Given the description of an element on the screen output the (x, y) to click on. 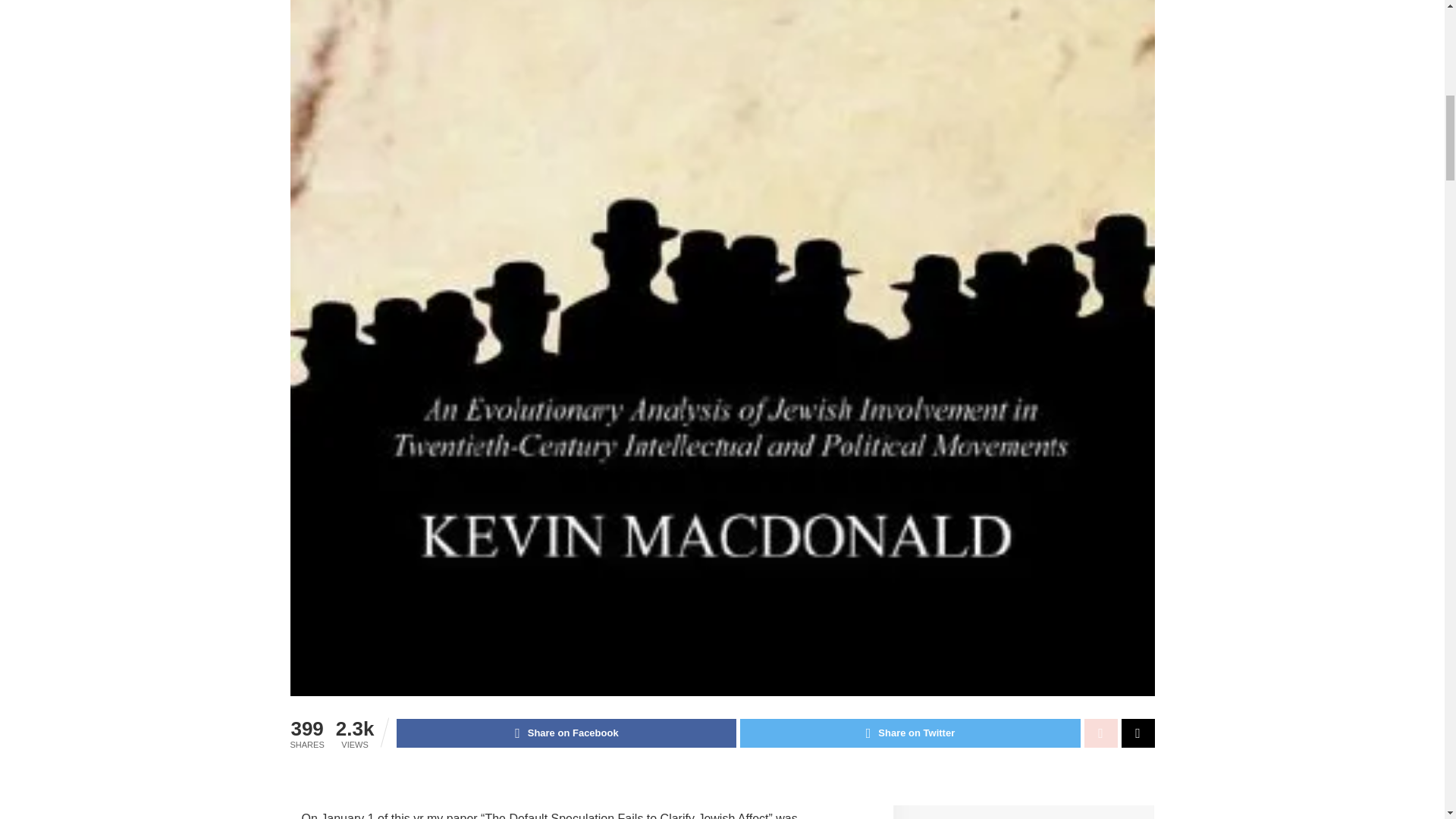
Share on Facebook (566, 733)
Share on Twitter (909, 733)
